Given the description of an element on the screen output the (x, y) to click on. 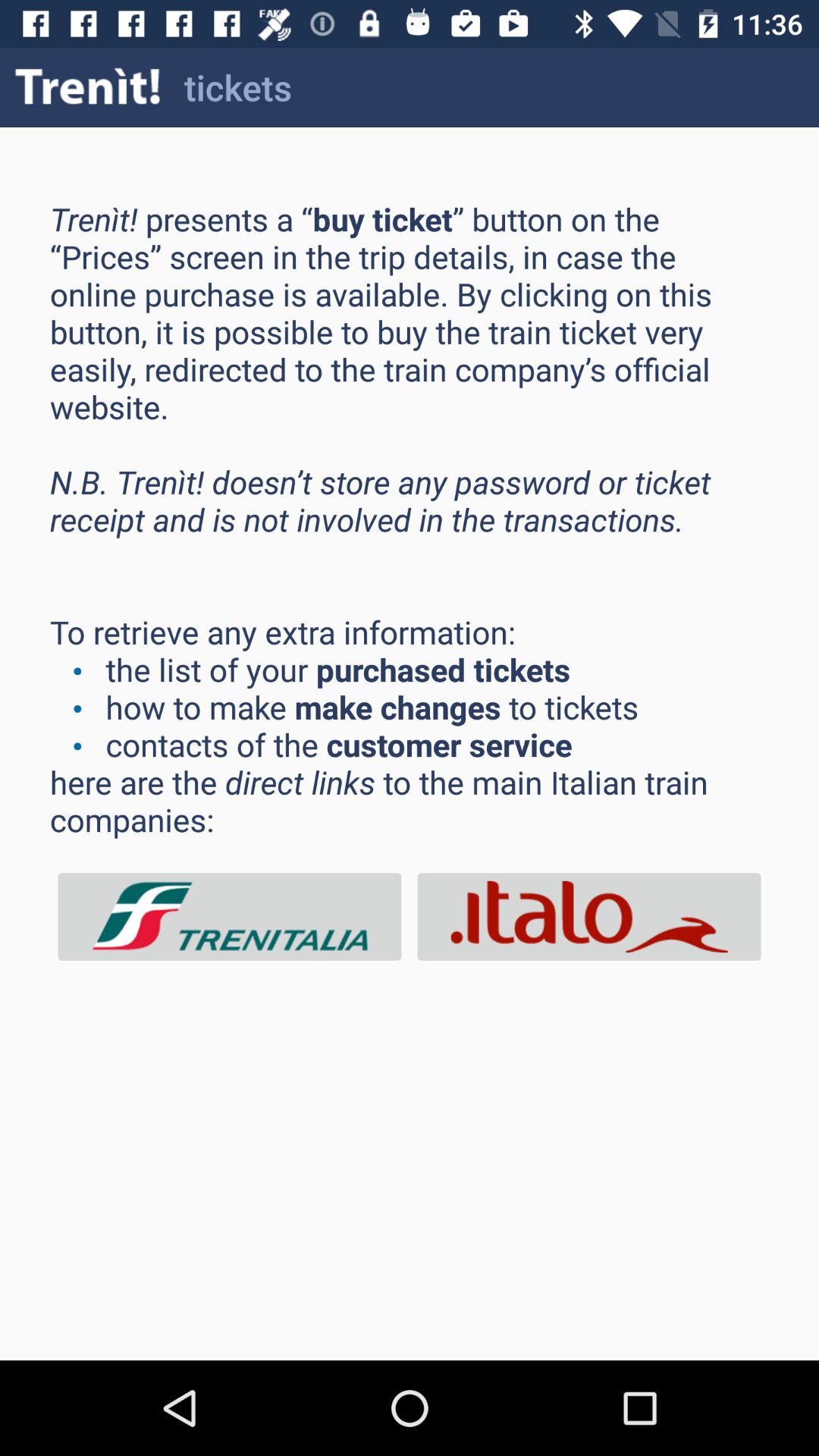
select icon next to tickets (88, 87)
